Given the description of an element on the screen output the (x, y) to click on. 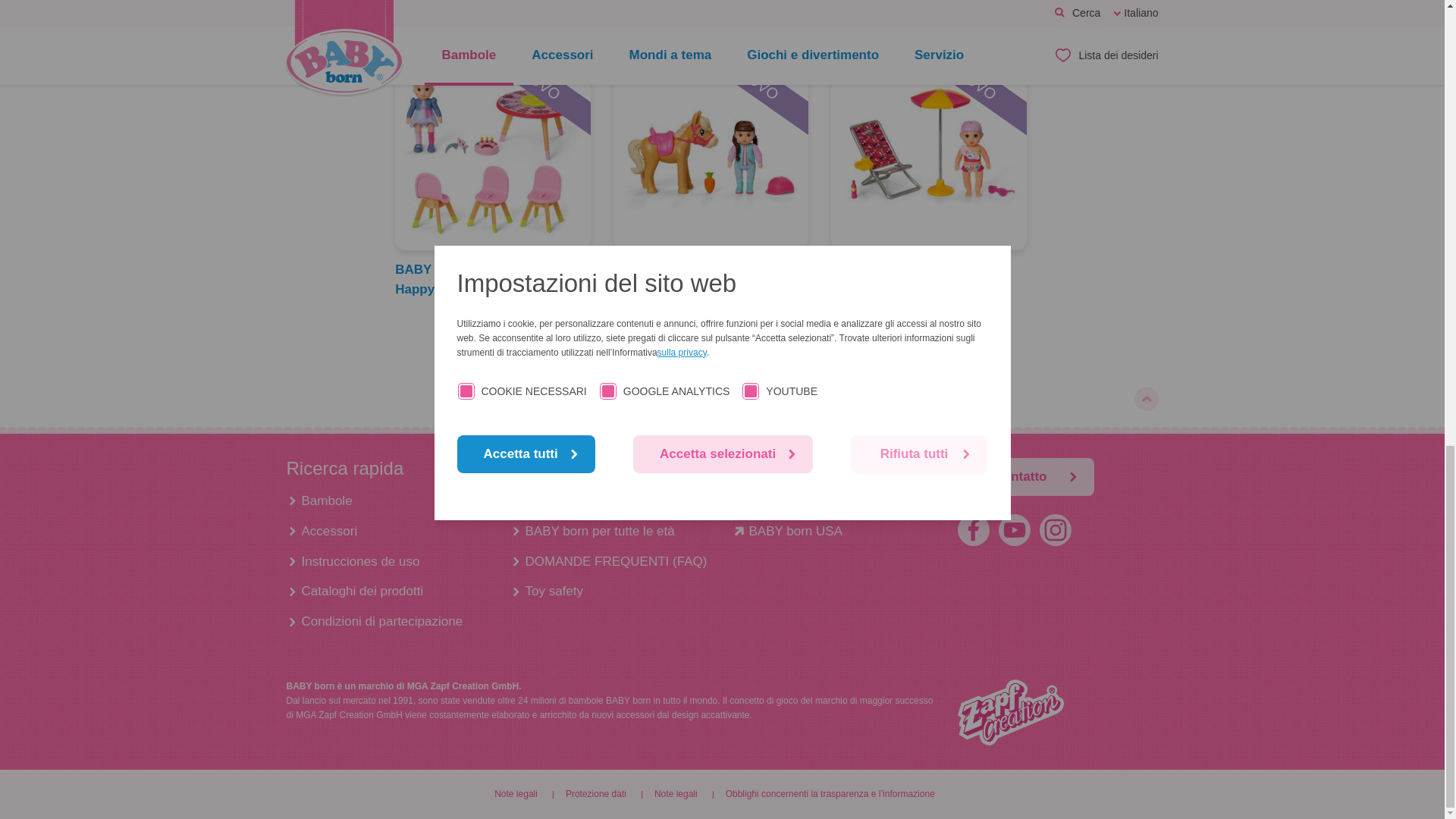
BABY born Minis - Playset Summertime (929, 279)
Zapf Creation (1009, 712)
BABY born Minis - Playset Summertime (928, 152)
BABY born Minis - Playset Happy Birthday (492, 152)
BABY born Minis - Playset Happy Birthday (492, 279)
BABY born Minis - Playset Horse Fun (710, 279)
BABY born Minis - Playset Horse Fun (710, 152)
